Given the description of an element on the screen output the (x, y) to click on. 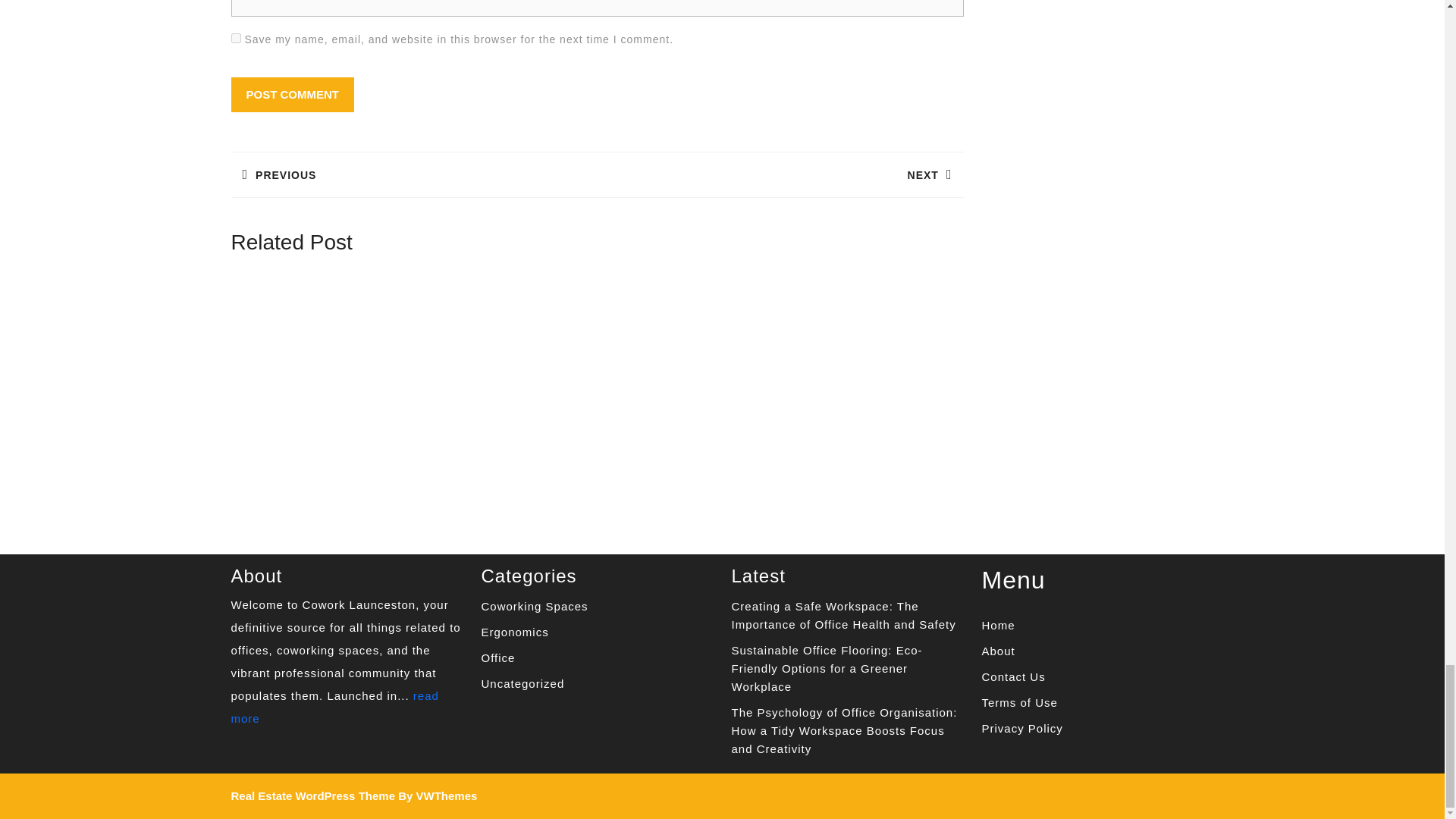
Ergonomics (514, 631)
Post Comment (291, 94)
Post Comment (413, 174)
Coworking Spaces (291, 94)
Office (534, 605)
yes (497, 657)
read more (235, 38)
Uncategorized (334, 706)
